Given the description of an element on the screen output the (x, y) to click on. 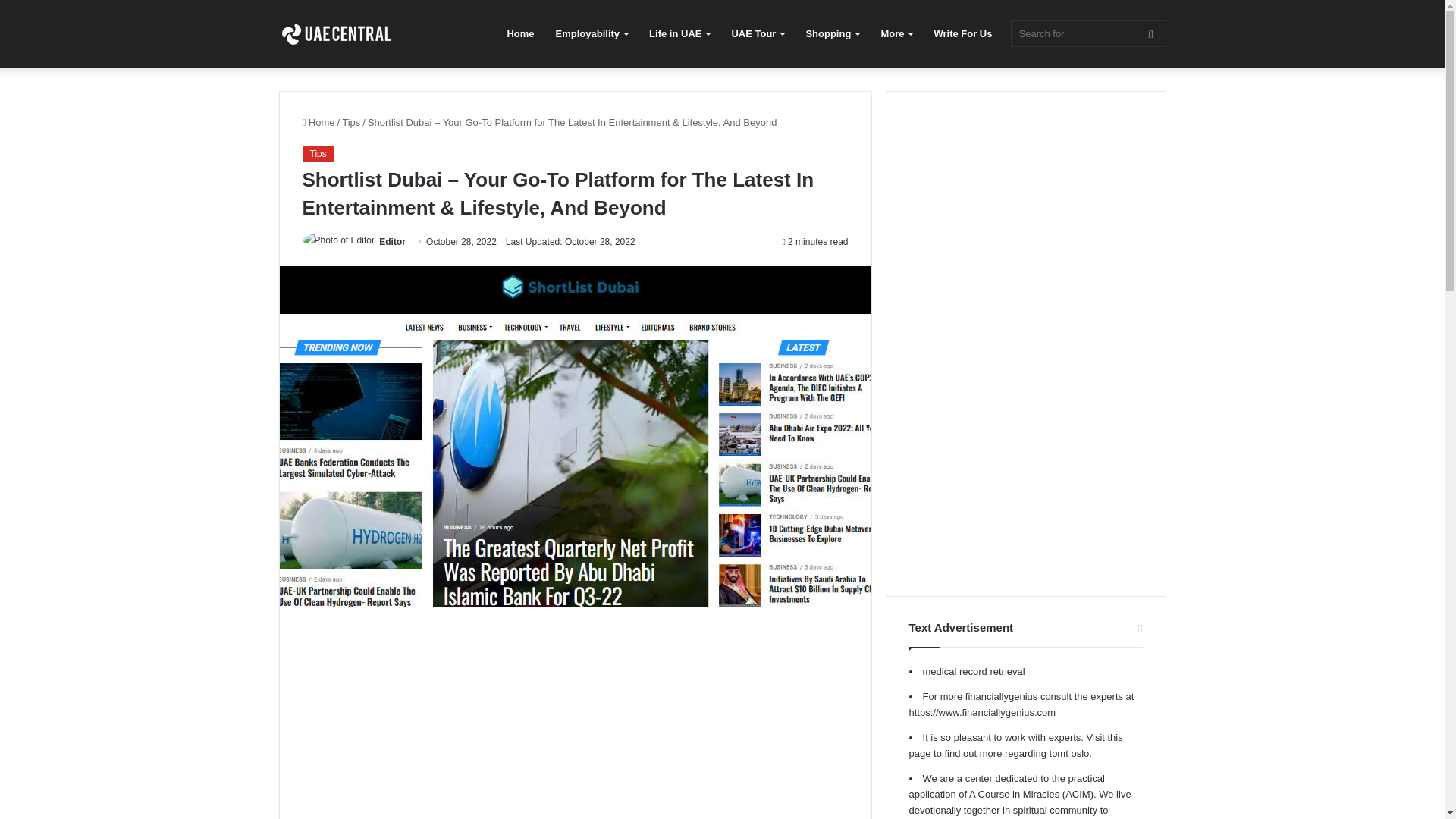
Employability (591, 33)
Editor (392, 241)
Life in UAE (679, 33)
Tips (317, 153)
Search for (1088, 33)
Shopping (831, 33)
Advertisement (574, 724)
UAE Tour (757, 33)
Home (317, 122)
Tips (350, 122)
UAE Central (336, 34)
Write For Us (963, 33)
